Given the description of an element on the screen output the (x, y) to click on. 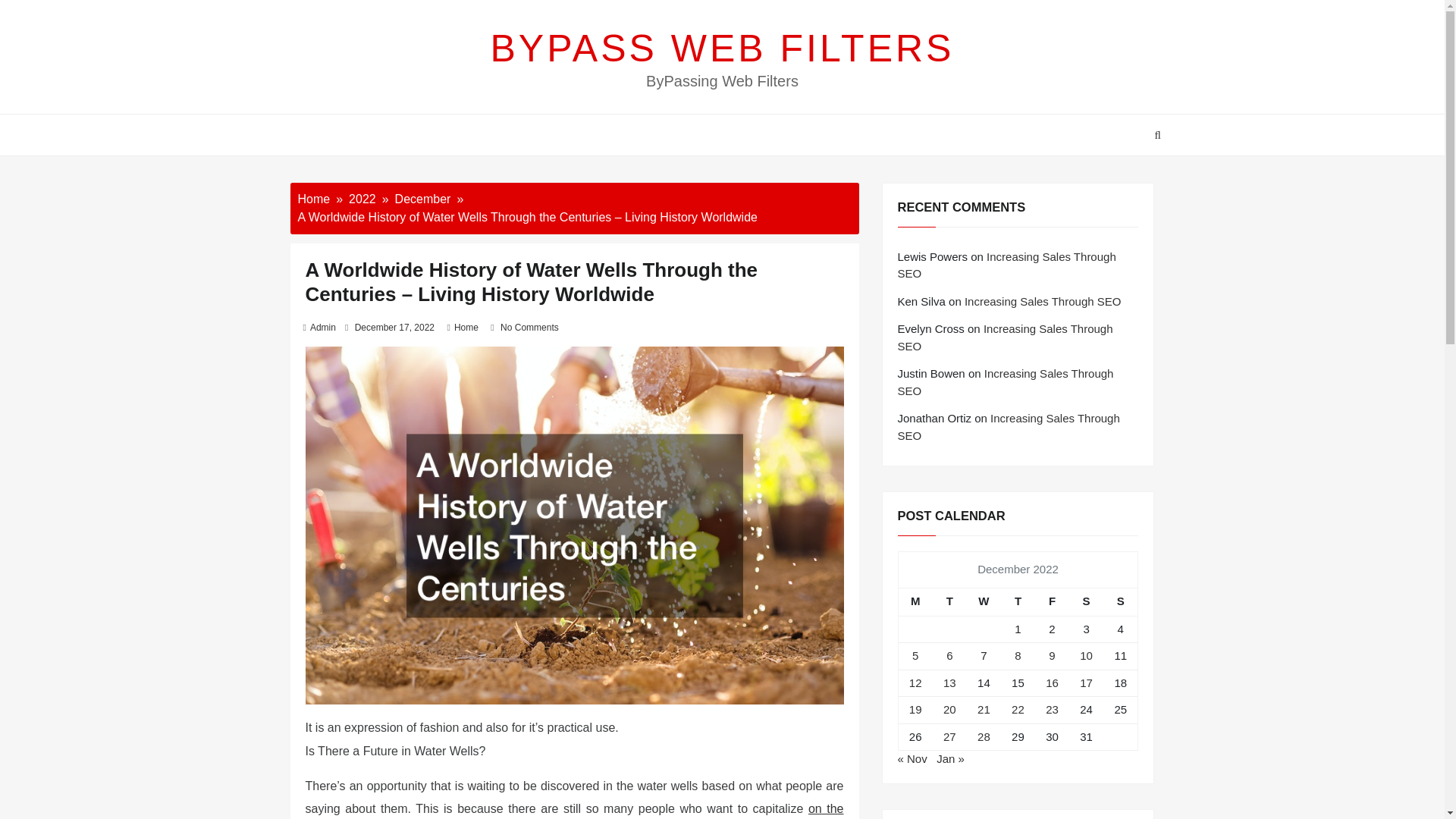
Home (313, 198)
Admin (323, 327)
Wednesday (983, 601)
on the (826, 808)
16 (1051, 682)
Increasing Sales Through SEO (1005, 381)
Saturday (1085, 601)
Thursday (1018, 601)
BYPASS WEB FILTERS (722, 48)
Monday (915, 601)
